Given the description of an element on the screen output the (x, y) to click on. 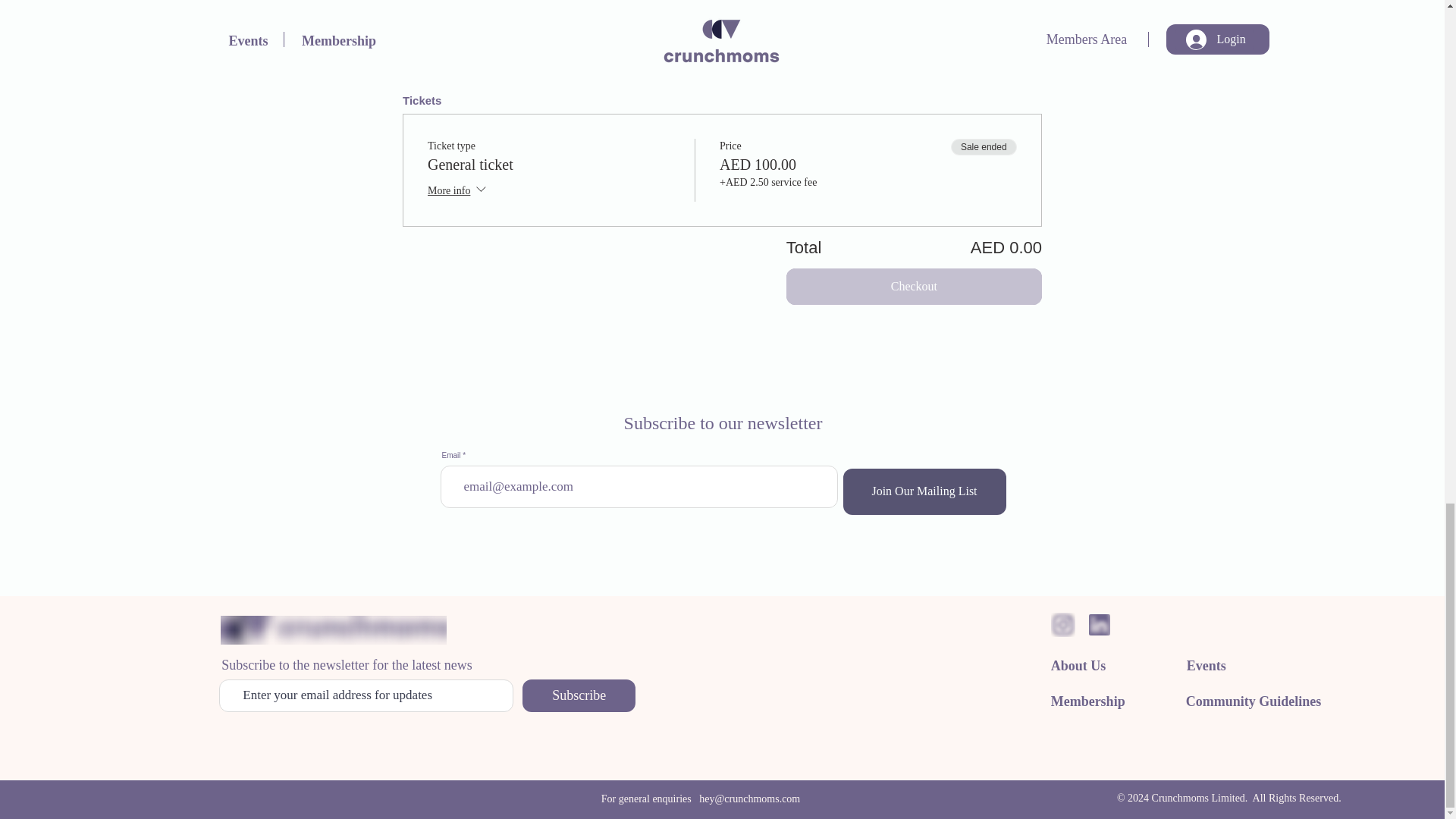
Checkout (914, 286)
About Us (1078, 665)
Join Our Mailing List (924, 491)
Membership (1088, 701)
Community Guidelines (1254, 701)
Events (1205, 665)
Subscribe (578, 695)
More info (458, 190)
